Given the description of an element on the screen output the (x, y) to click on. 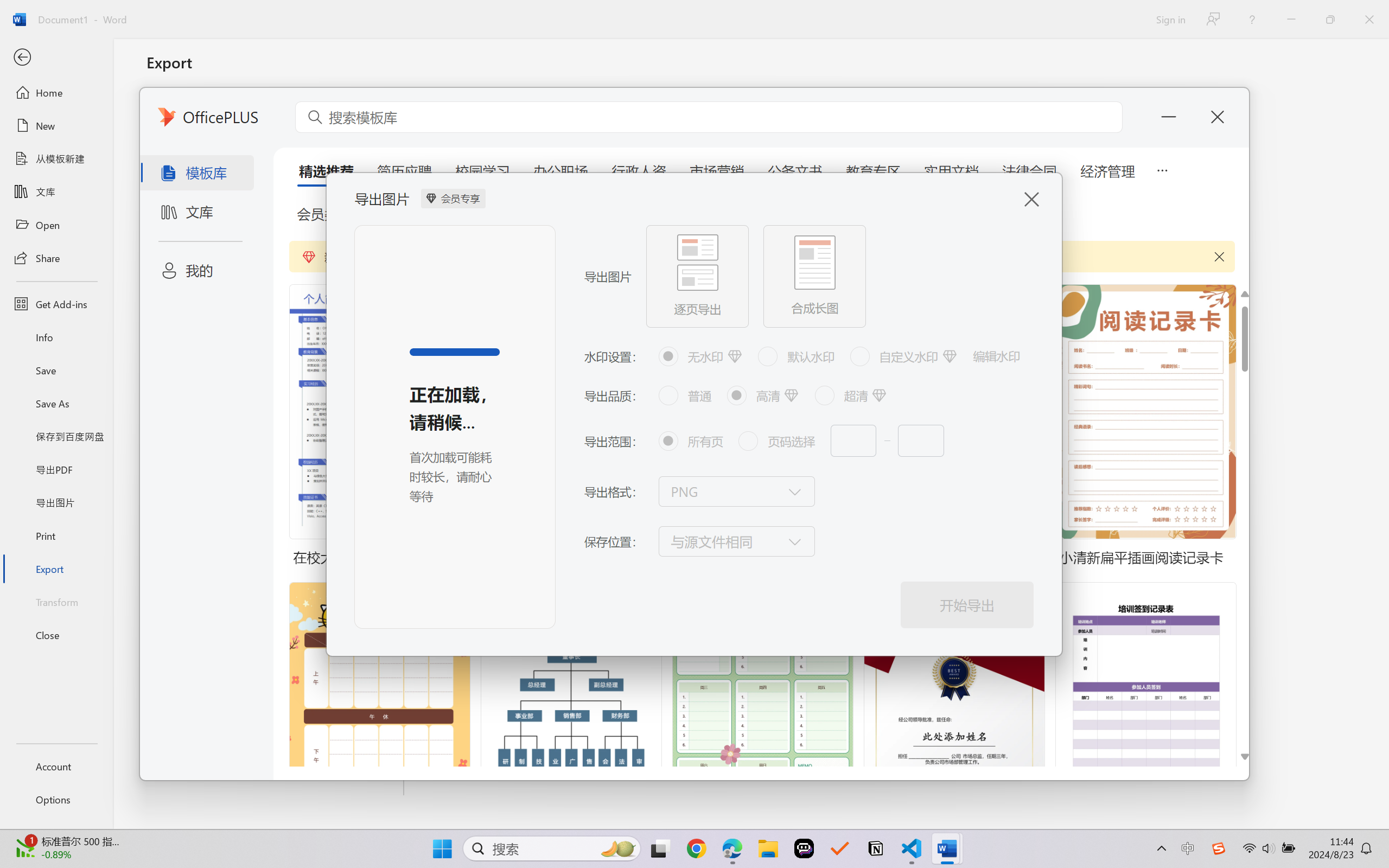
Get Add-ins (56, 303)
Back (56, 57)
